Given the description of an element on the screen output the (x, y) to click on. 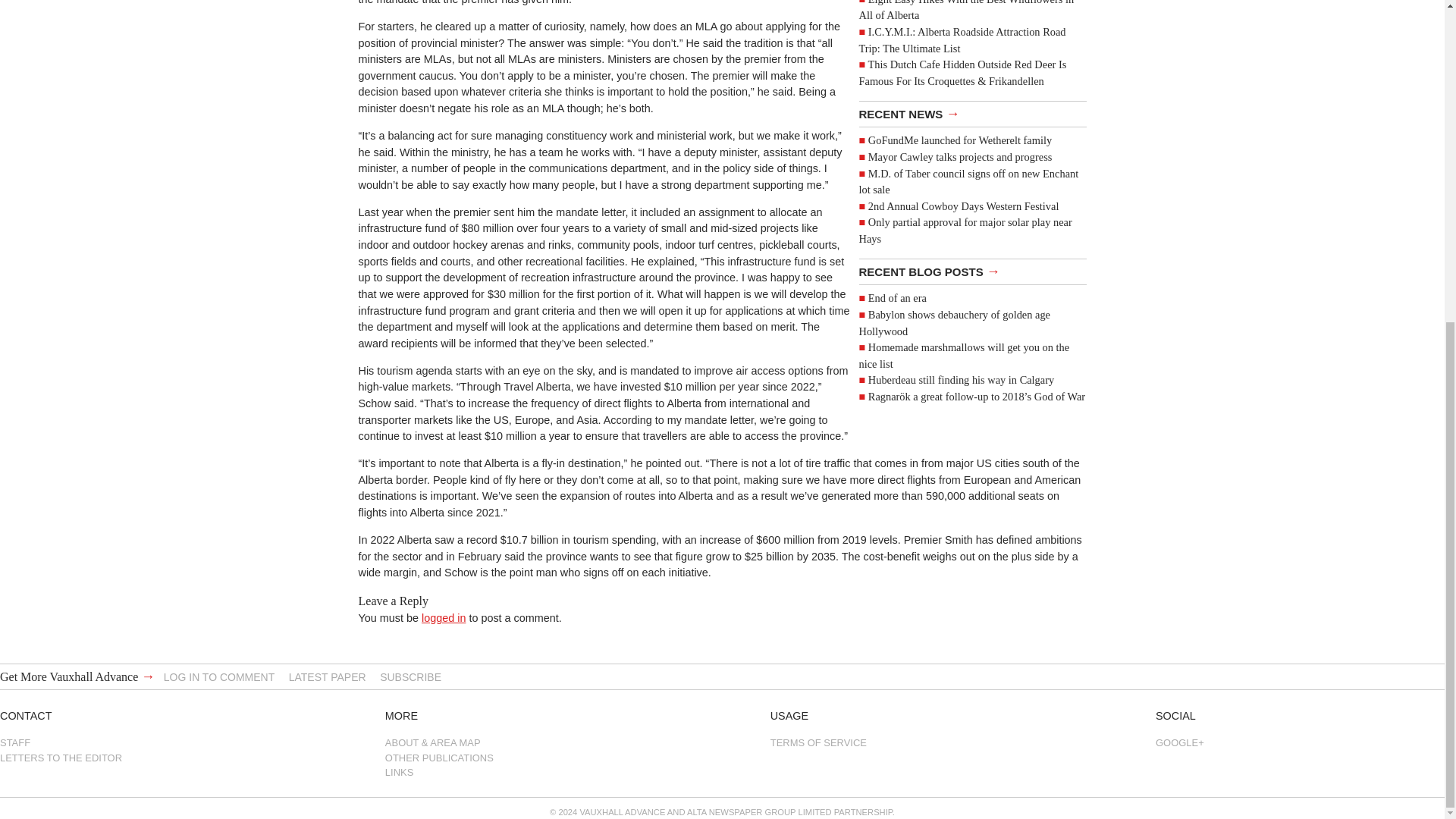
End of an era (896, 297)
GoFundMe launched for Wetherelt family (959, 140)
Babylon shows debauchery of golden age Hollywood (954, 322)
Mayor Cawley talks projects and progress (959, 156)
Only partial approval for major solar play near Hays (965, 230)
M.D. of Taber council signs off on new Enchant lot sale (968, 181)
Eight Easy Hikes With the Best Wildflowers in All of Alberta (966, 11)
2nd Annual Cowboy Days Western Festival (963, 205)
